Given the description of an element on the screen output the (x, y) to click on. 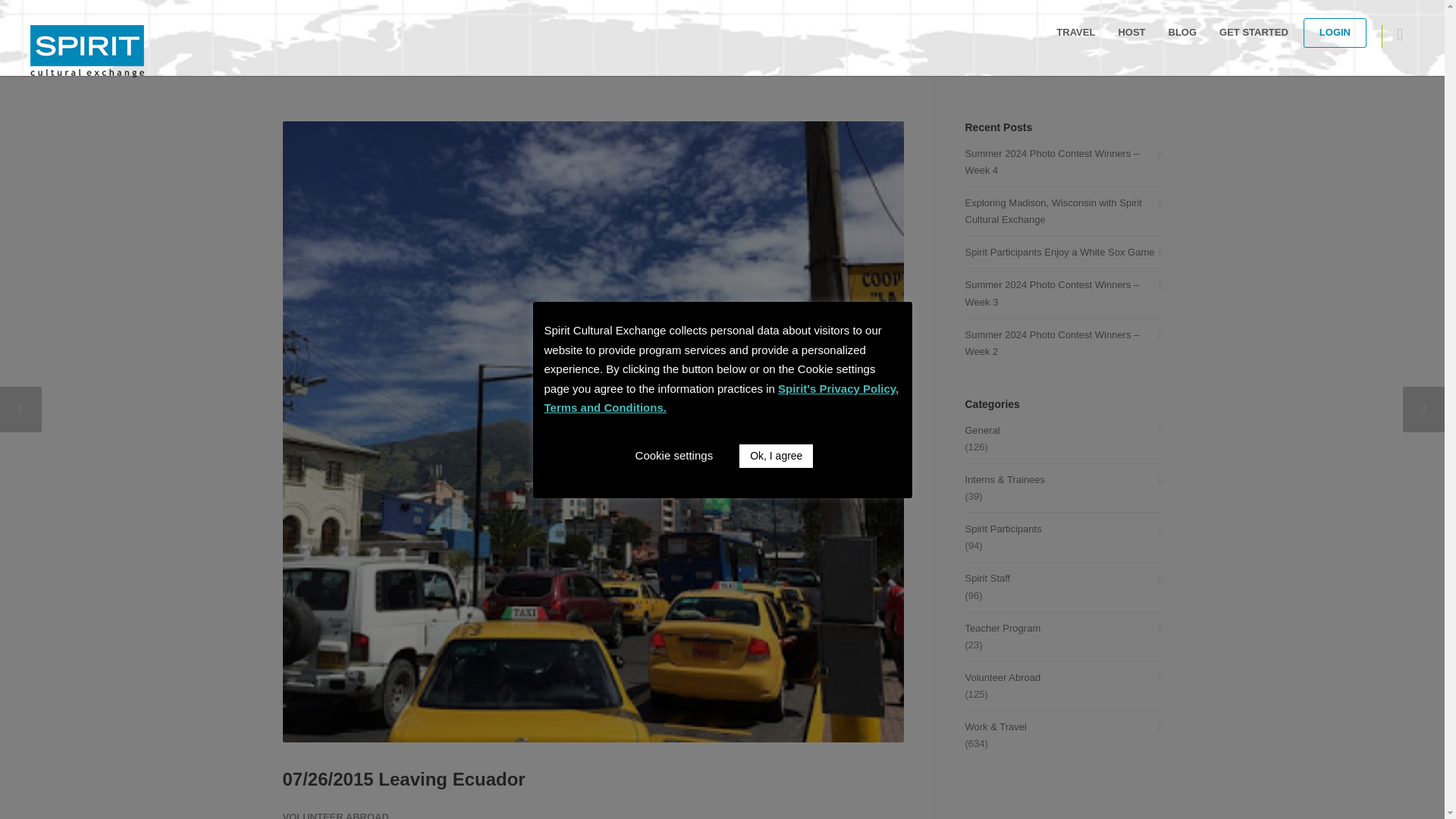
HOST (1131, 32)
TRAVEL (1075, 32)
BLOG (1182, 32)
GET STARTED (1254, 32)
LOGIN (1335, 32)
